Given the description of an element on the screen output the (x, y) to click on. 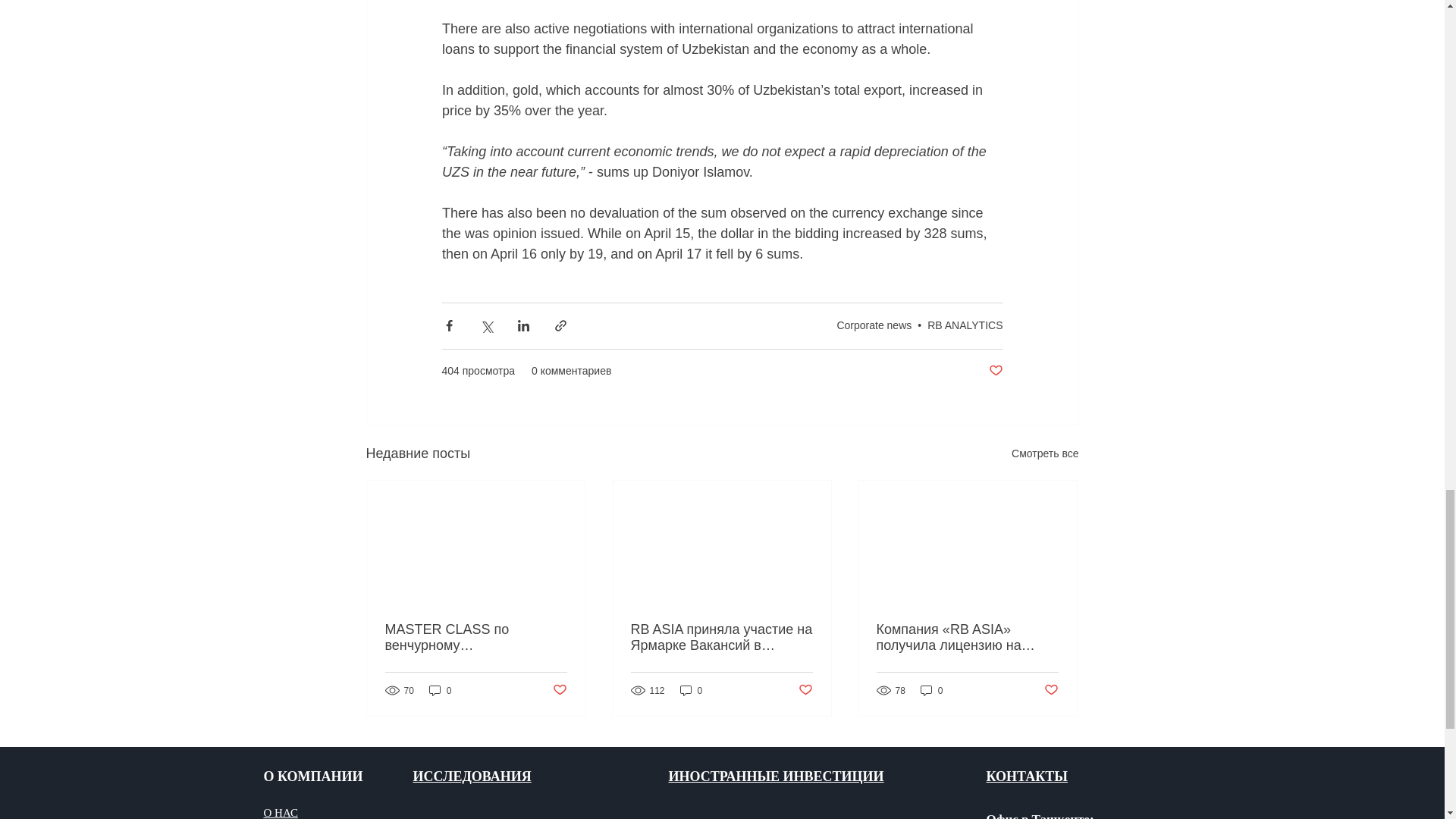
0 (440, 690)
Corporate news (873, 325)
RB ANALYTICS (965, 325)
